Given the description of an element on the screen output the (x, y) to click on. 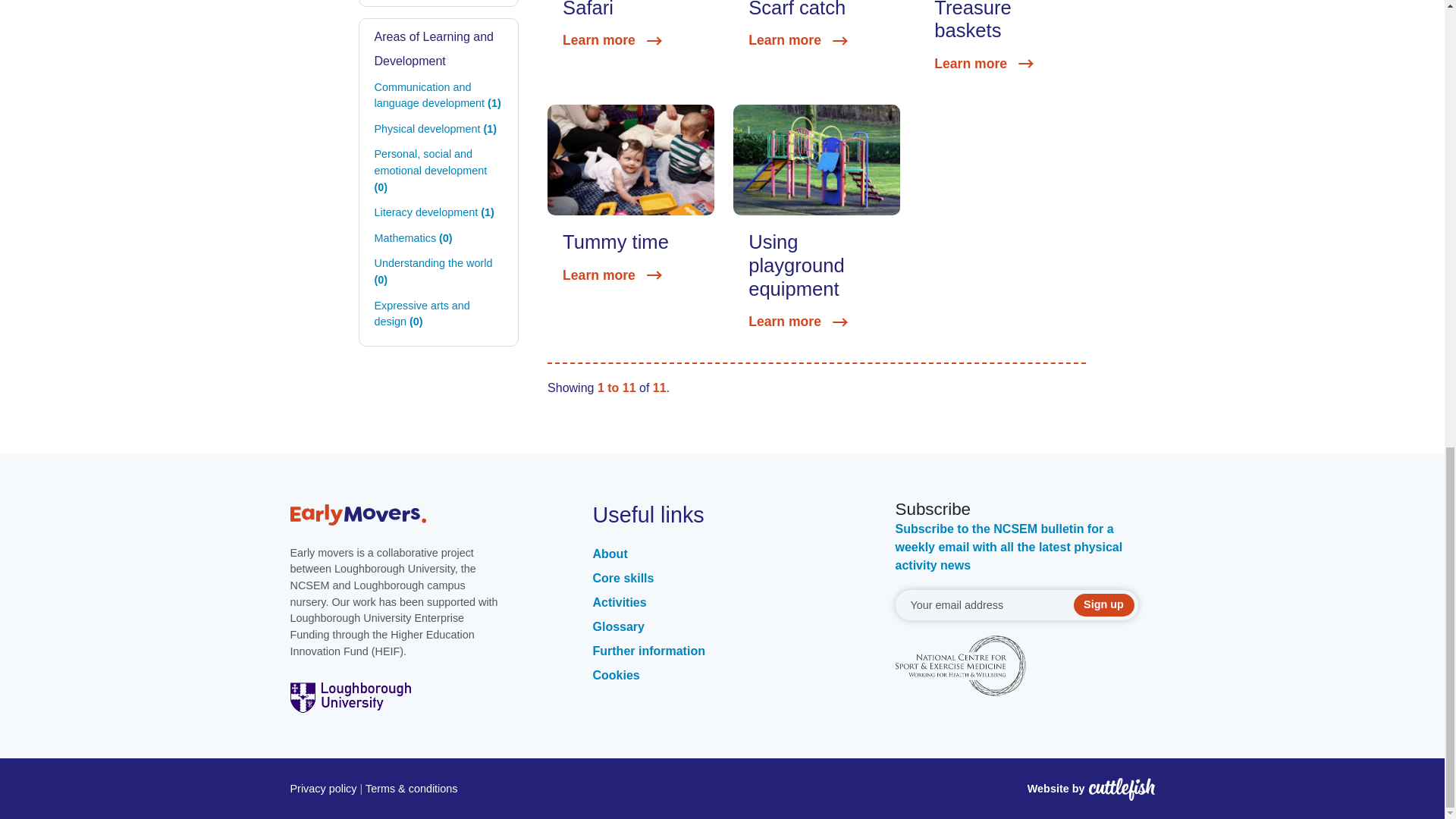
Sign up (1104, 604)
Early Movers (418, 514)
